Given the description of an element on the screen output the (x, y) to click on. 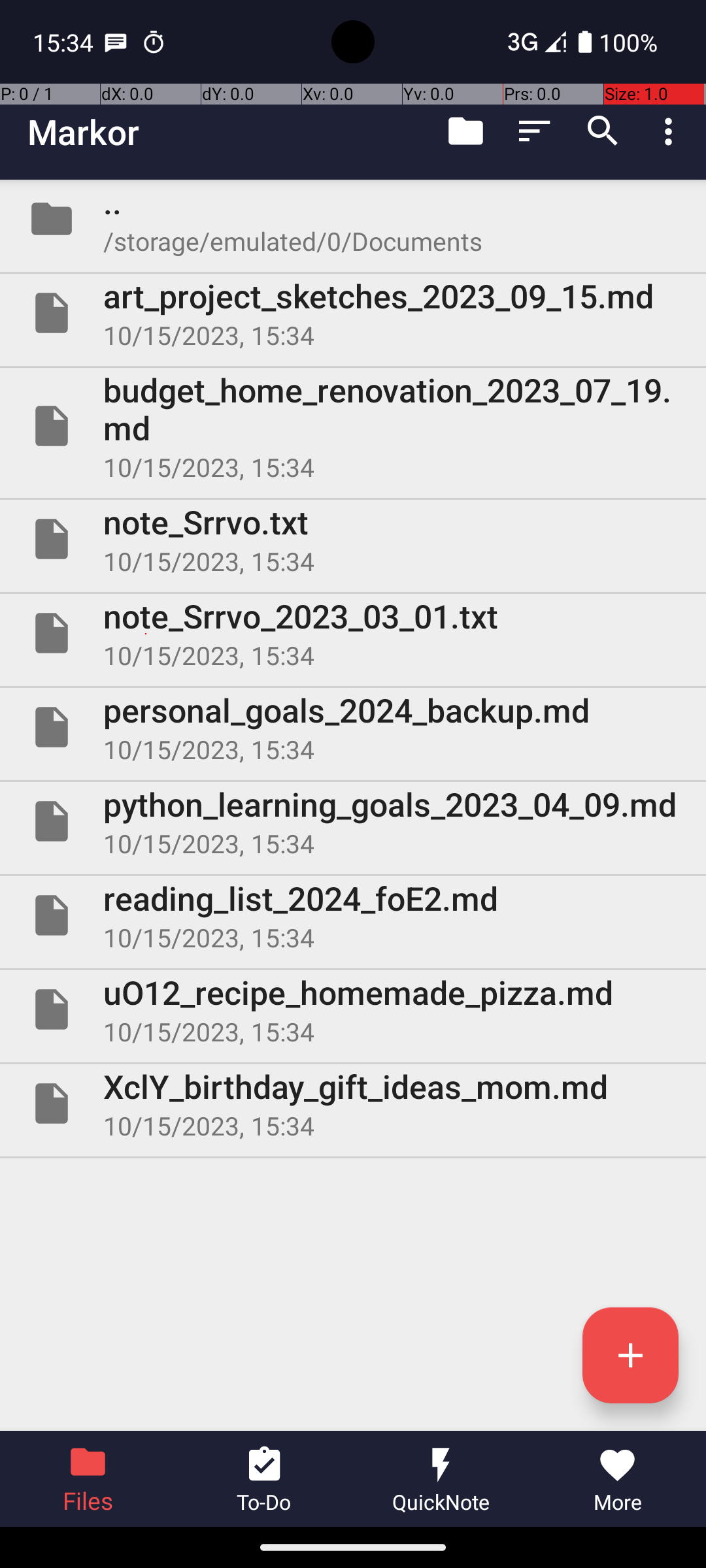
File art_project_sketches_2023_09_15.md  Element type: android.widget.LinearLayout (353, 312)
File budget_home_renovation_2023_07_19.md  Element type: android.widget.LinearLayout (353, 425)
File note_Srrvo.txt  Element type: android.widget.LinearLayout (353, 538)
File note_Srrvo_2023_03_01.txt  Element type: android.widget.LinearLayout (353, 632)
File personal_goals_2024_backup.md  Element type: android.widget.LinearLayout (353, 726)
File python_learning_goals_2023_04_09.md  Element type: android.widget.LinearLayout (353, 821)
File reading_list_2024_foE2.md  Element type: android.widget.LinearLayout (353, 915)
File uO12_recipe_homemade_pizza.md  Element type: android.widget.LinearLayout (353, 1009)
File XclY_birthday_gift_ideas_mom.md  Element type: android.widget.LinearLayout (353, 1103)
